Given the description of an element on the screen output the (x, y) to click on. 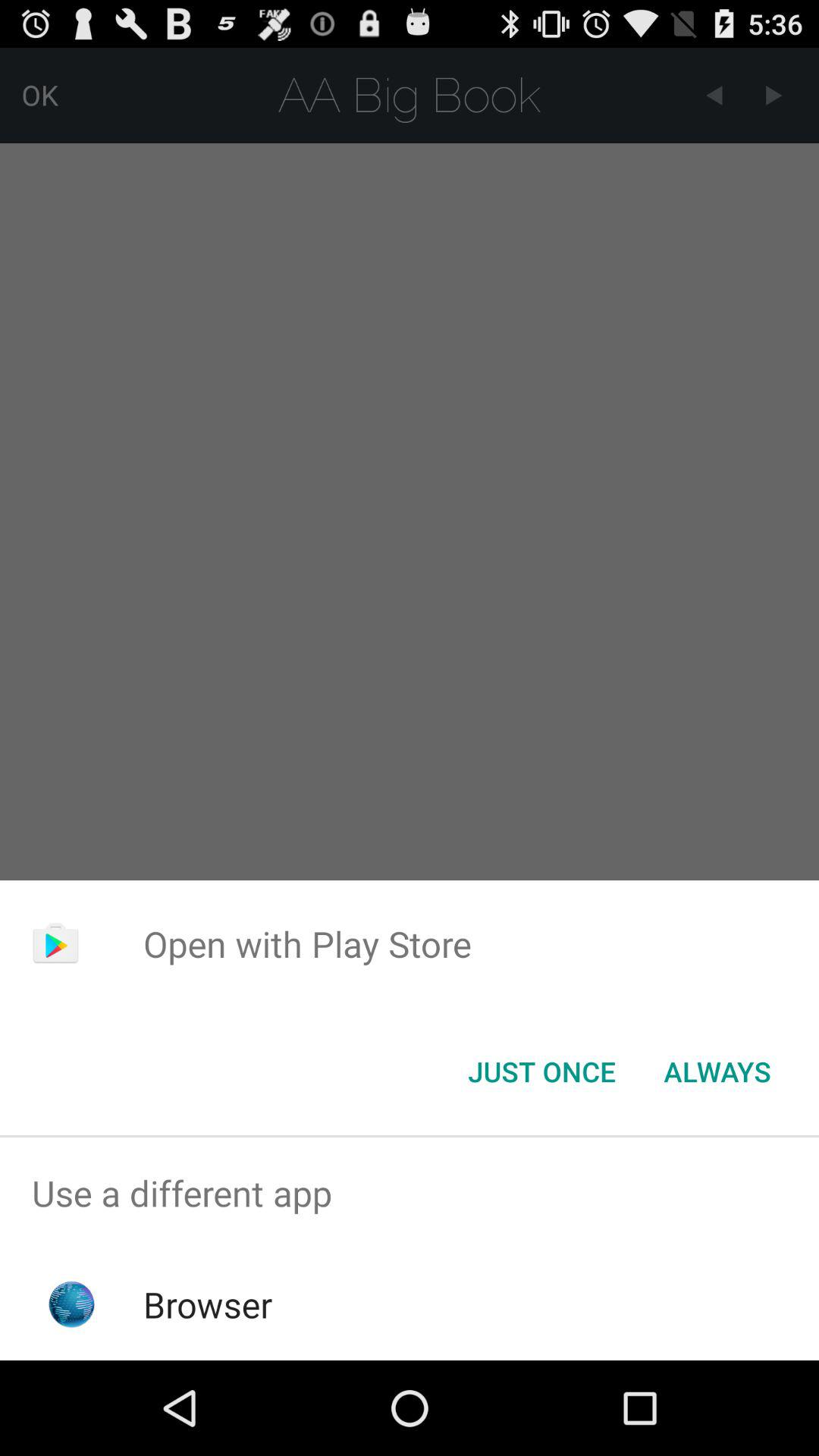
scroll until the use a different (409, 1192)
